Given the description of an element on the screen output the (x, y) to click on. 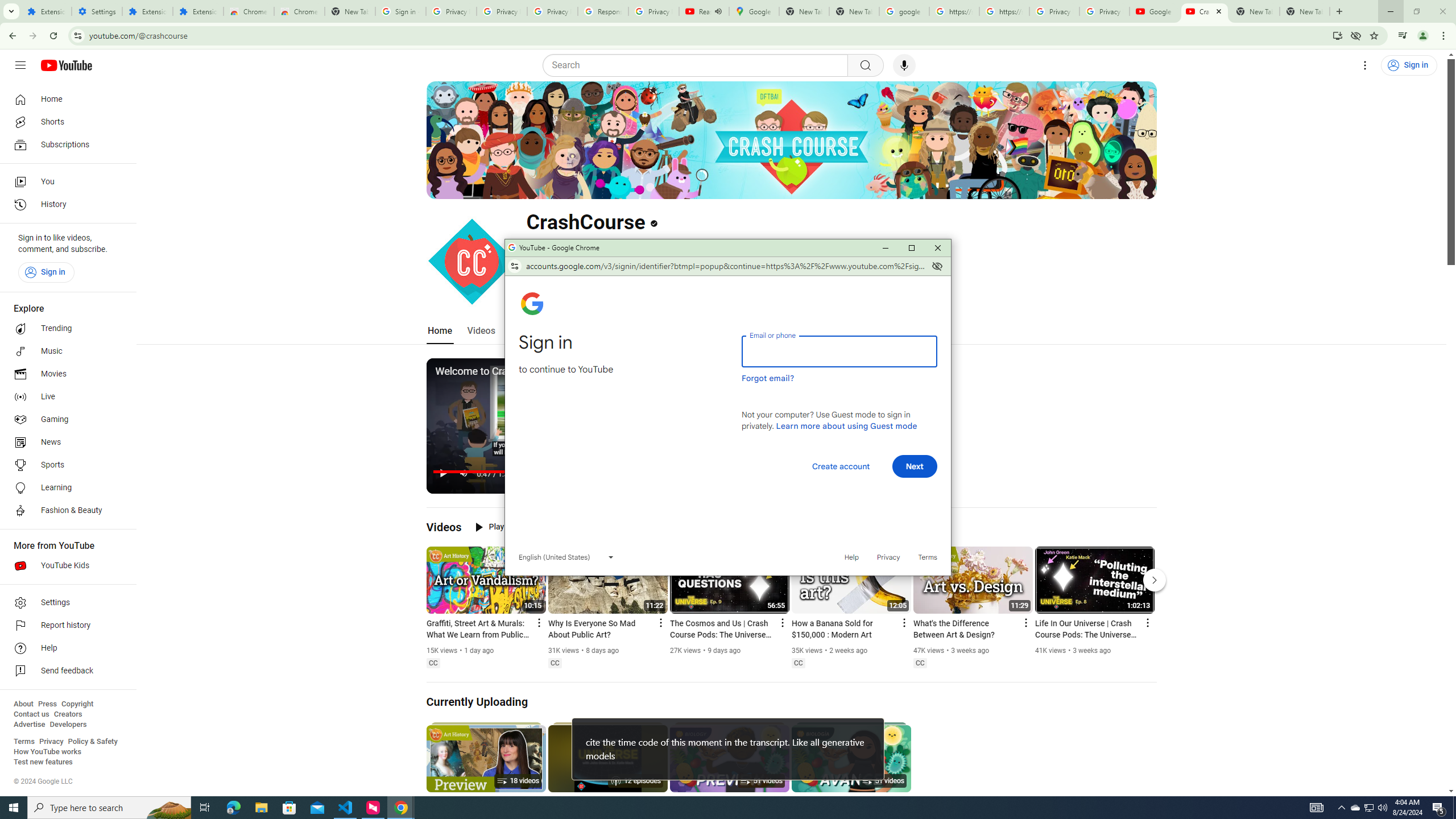
AutomationID: 4105 (1316, 807)
Google Maps (753, 11)
Extensions (146, 11)
YouTube Home (66, 65)
Search with your voice (903, 65)
Maximize (911, 248)
Test new features (42, 761)
Task View (204, 807)
Report history (64, 625)
Videos (443, 526)
